Given the description of an element on the screen output the (x, y) to click on. 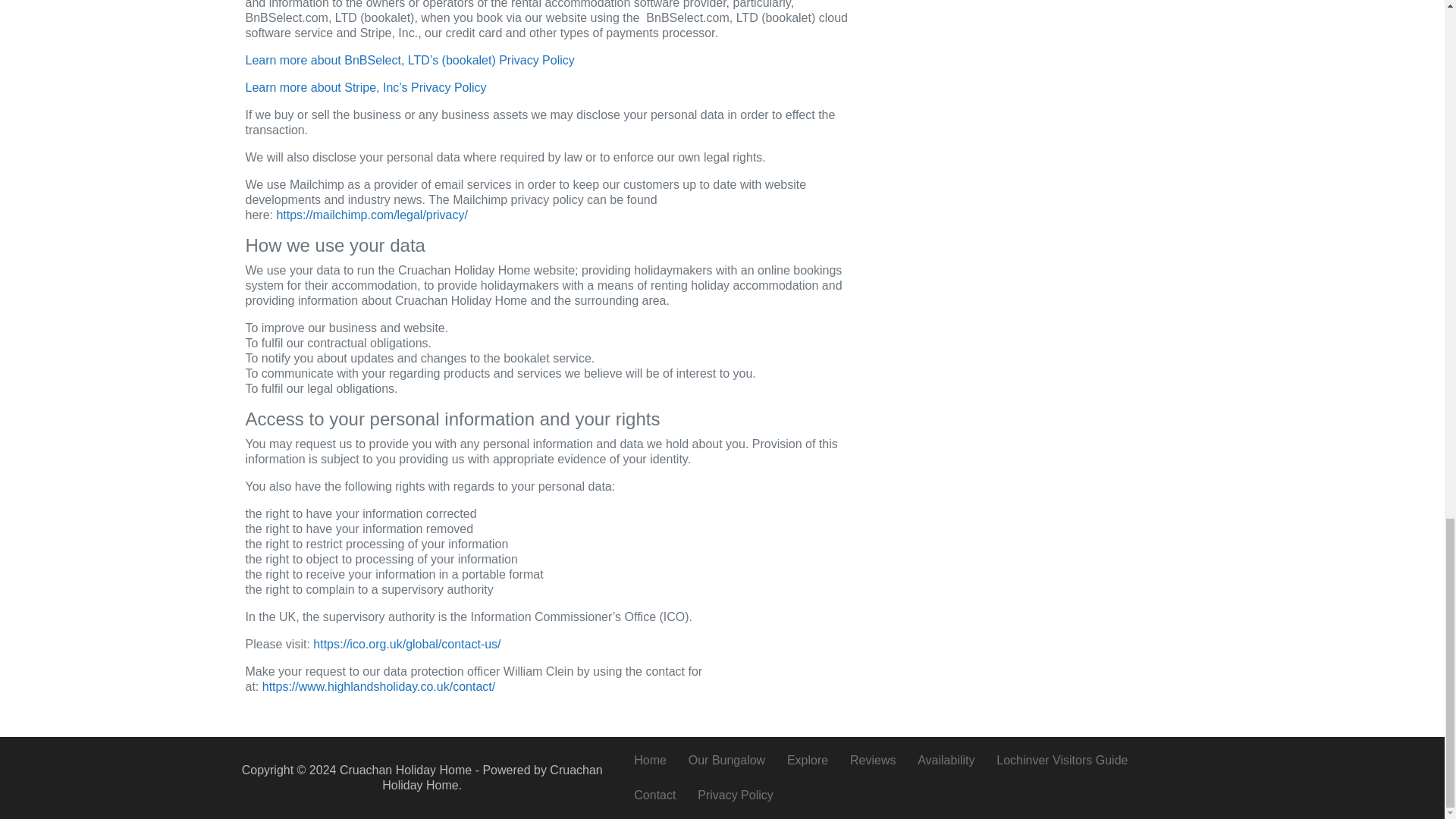
Reviews (873, 760)
Privacy Policy (735, 795)
Explore (808, 760)
Home (650, 760)
Lochinver Visitors Guide (1061, 760)
Contact (655, 795)
Availability (946, 760)
Our Bungalow (726, 760)
